Given the description of an element on the screen output the (x, y) to click on. 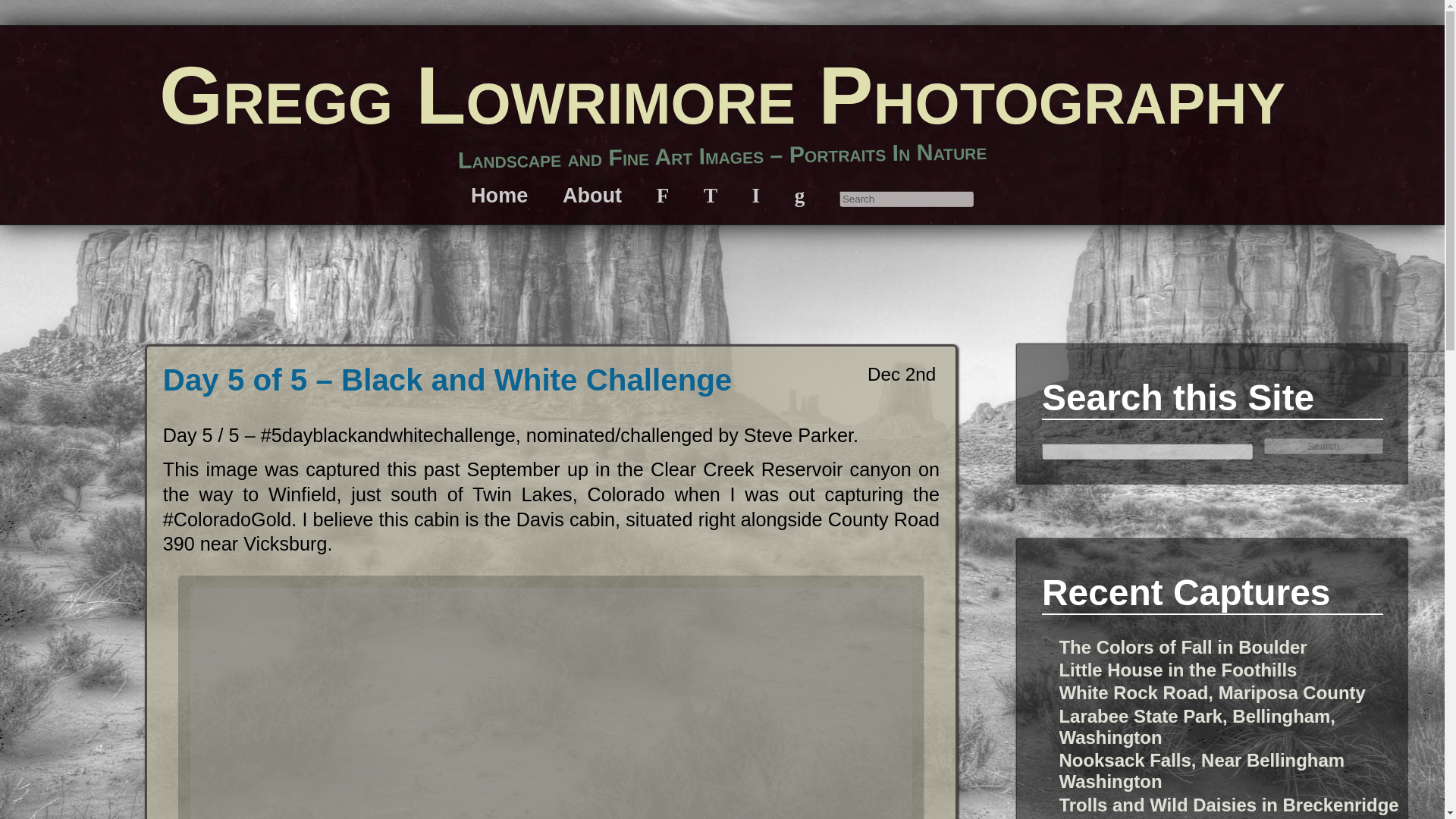
White Rock Road, Mariposa County (1211, 692)
Gregg Lowrimore Photography (721, 94)
Nooksack Falls, Near Bellingham Washington (1200, 770)
Little House in the Foothills (1177, 670)
The Colors of Fall in Boulder (1182, 647)
About (591, 195)
Larabee State Park, Bellingham, Washington (1196, 726)
Trolls and Wild Daisies in Breckenridge (1227, 804)
Search (1323, 446)
Search (907, 198)
